Given the description of an element on the screen output the (x, y) to click on. 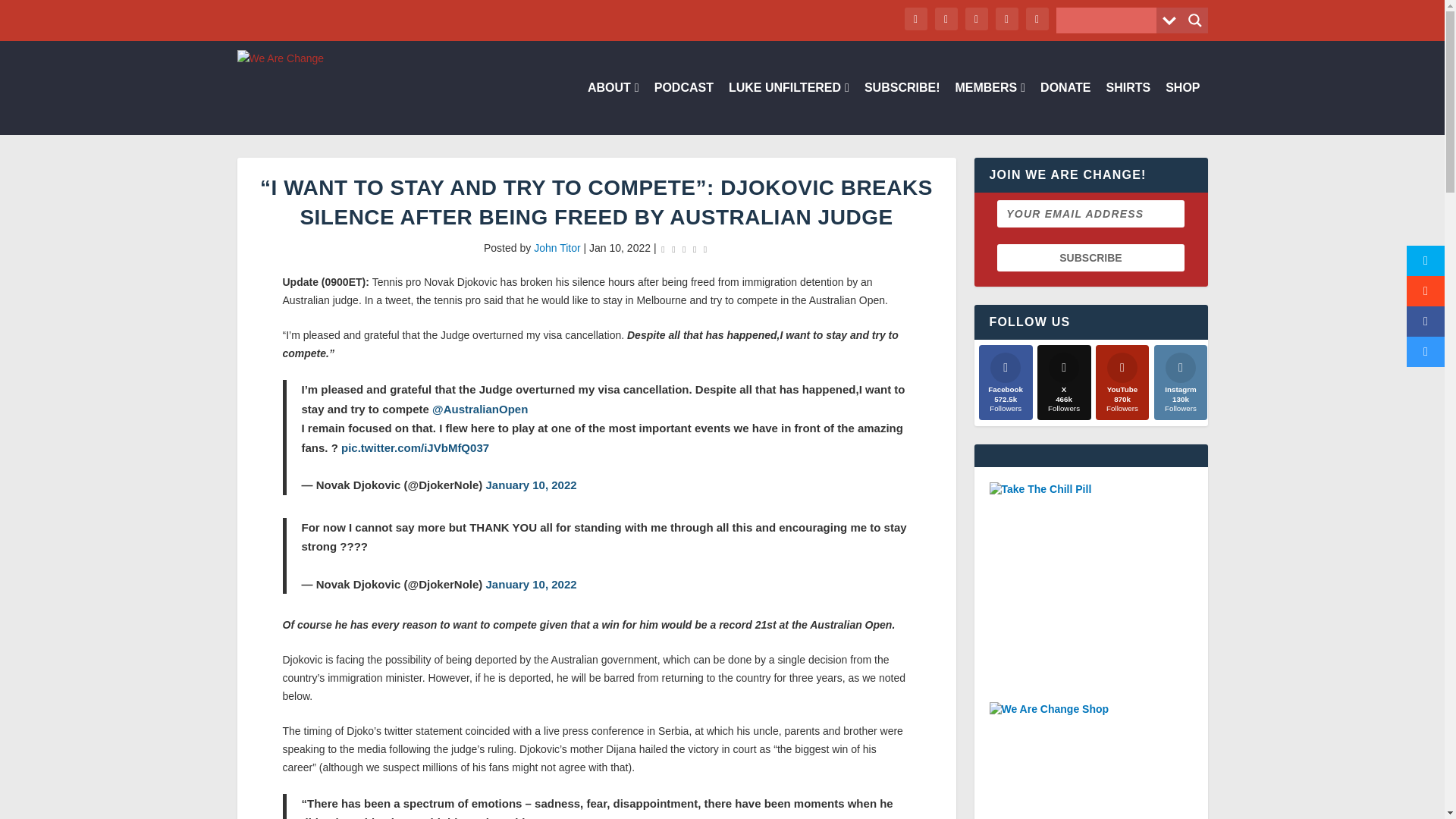
DONATE (1065, 108)
Rating: 0.00 (684, 248)
January 10, 2022 (531, 584)
SUBSCRIBE! (902, 108)
January 10, 2022 (531, 484)
Posts by John Titor (556, 247)
Subscribe (1090, 257)
ABOUT (613, 108)
MEMBERS (990, 108)
LUKE UNFILTERED (788, 108)
